Given the description of an element on the screen output the (x, y) to click on. 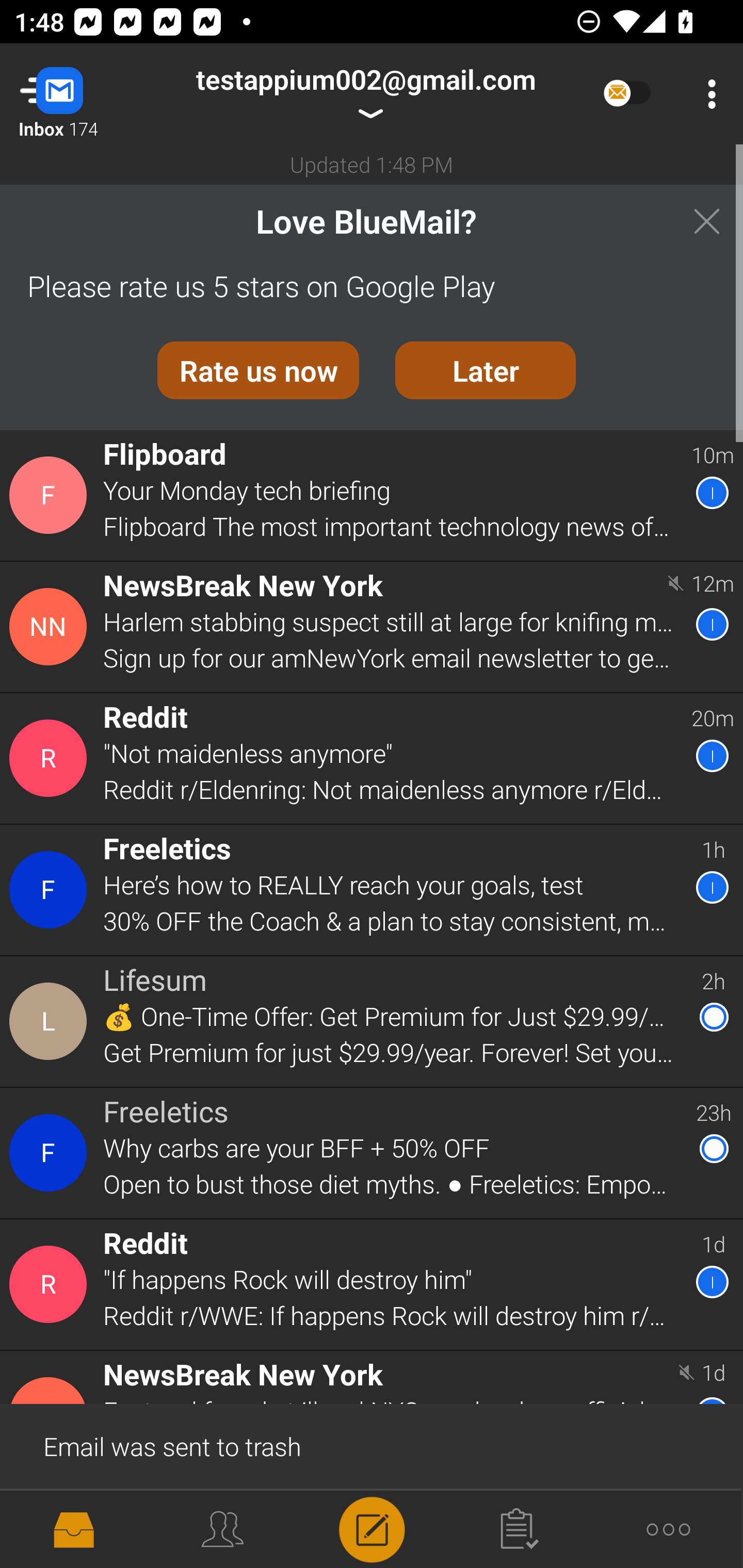
Navigate up (81, 93)
testappium002@gmail.com (365, 93)
More Options (706, 93)
Updated 1:48 PM (371, 164)
Rate us now (257, 370)
Later (485, 370)
Contact Details (50, 495)
Contact Details (50, 626)
Contact Details (50, 758)
Contact Details (50, 889)
Contact Details (50, 1021)
Contact Details (50, 1153)
Contact Details (50, 1284)
Email was sent to trash (371, 1445)
Compose (371, 1528)
